Given the description of an element on the screen output the (x, y) to click on. 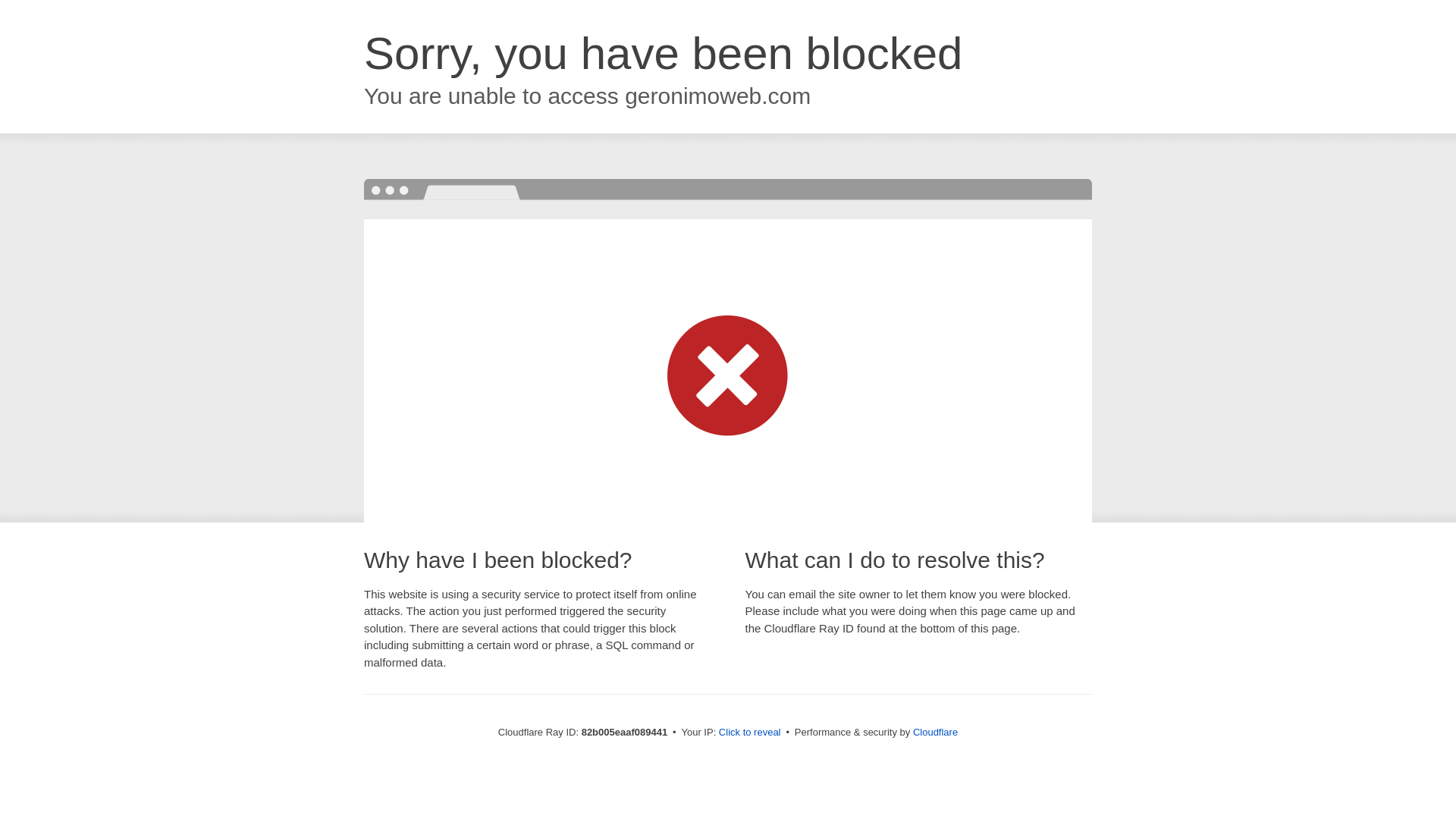
Cloudflare Element type: text (935, 731)
Click to reveal Element type: text (749, 732)
